Given the description of an element on the screen output the (x, y) to click on. 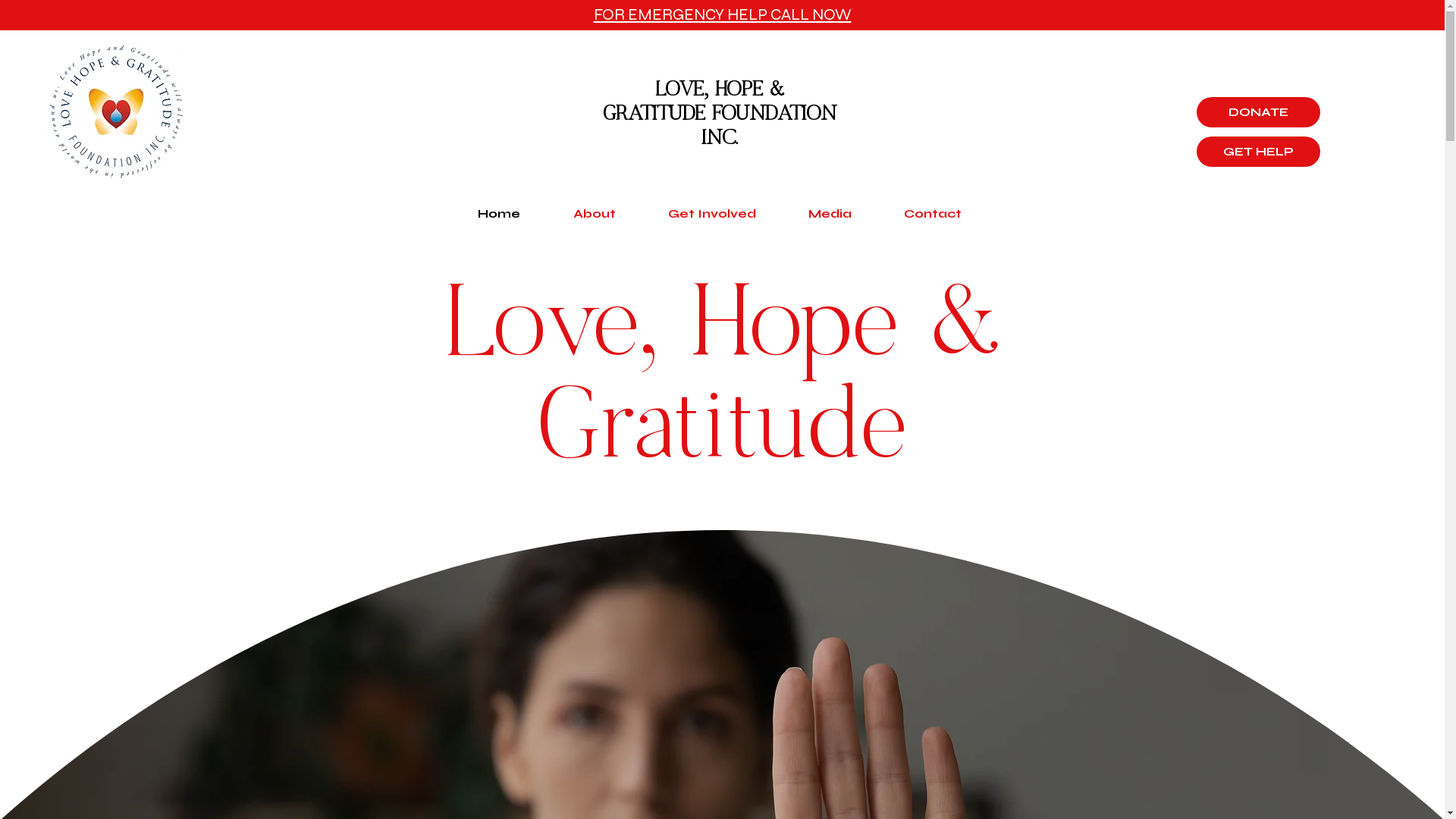
Get Involved Element type: text (711, 213)
GET HELP Element type: text (1258, 151)
Contact Element type: text (933, 213)
Media Element type: text (830, 213)
DONATE Element type: text (1258, 112)
About Element type: text (593, 213)
FOR EMERGENCY HELP CALL NOW Element type: text (721, 14)
Home Element type: text (498, 213)
LOVE, HOPE & GRATITUDE FOUNDATION INC. Element type: text (719, 112)
